Given the description of an element on the screen output the (x, y) to click on. 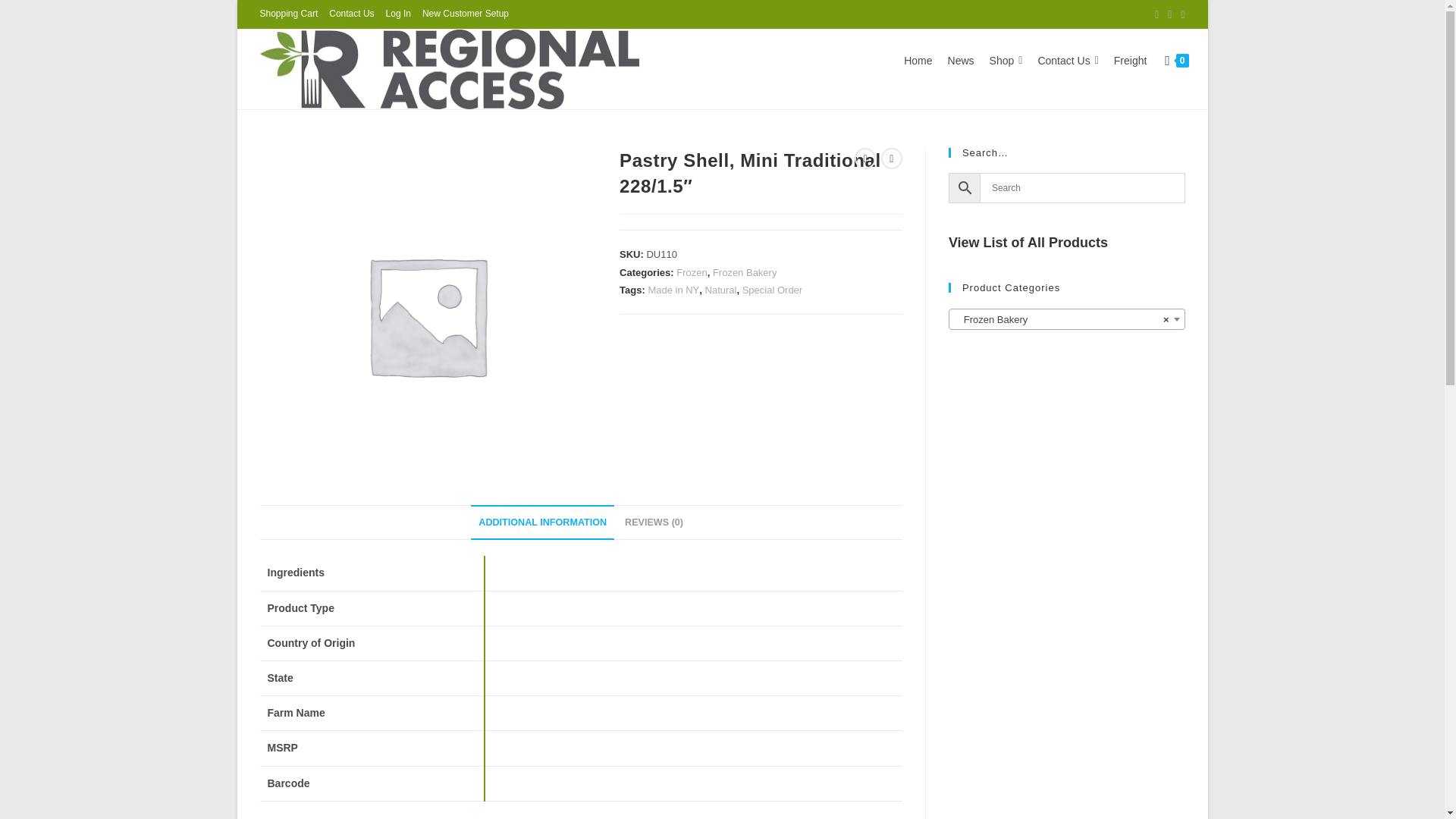
0 (1176, 60)
Contact Us (351, 13)
New Customer Setup (465, 13)
Shop (1005, 60)
News (960, 60)
Home (917, 60)
Log In (397, 13)
Freight (1130, 60)
Contact Us (1067, 60)
Shopping Cart (288, 13)
